Given the description of an element on the screen output the (x, y) to click on. 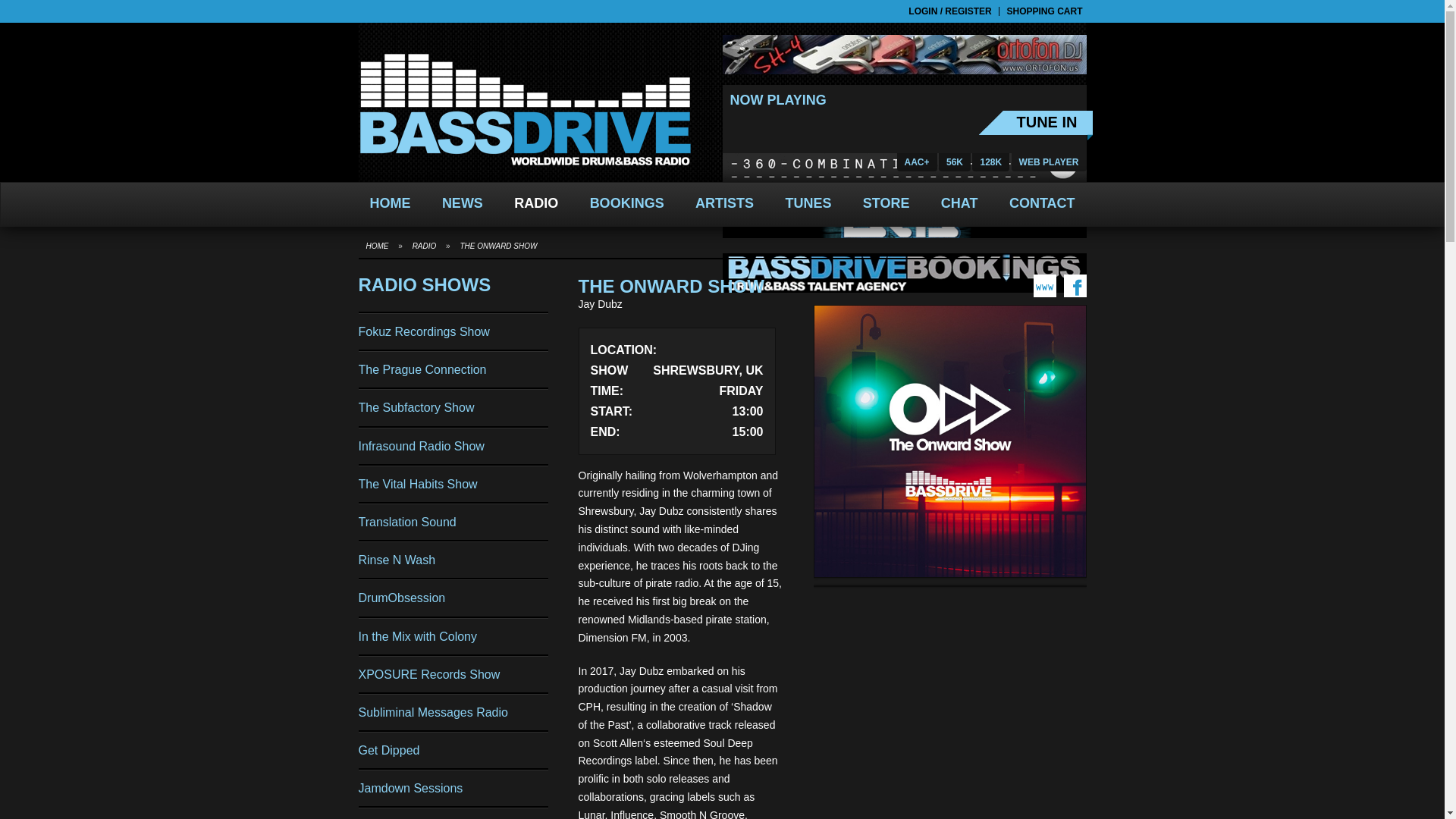
XPOSURE Records Show (452, 674)
STORE (886, 203)
Home (378, 245)
HOME (390, 203)
SHOPPING CART (1044, 11)
Fokuz Recordings Show (452, 331)
View Shopping Cart (1044, 11)
Infrasound Radio Show (452, 446)
TUNE IN (1035, 125)
The Prague Connection (452, 369)
Jamdown Sessions (452, 787)
NEWS (462, 203)
Radio (425, 245)
CONTACT (1041, 203)
Login or Register (949, 11)
